Given the description of an element on the screen output the (x, y) to click on. 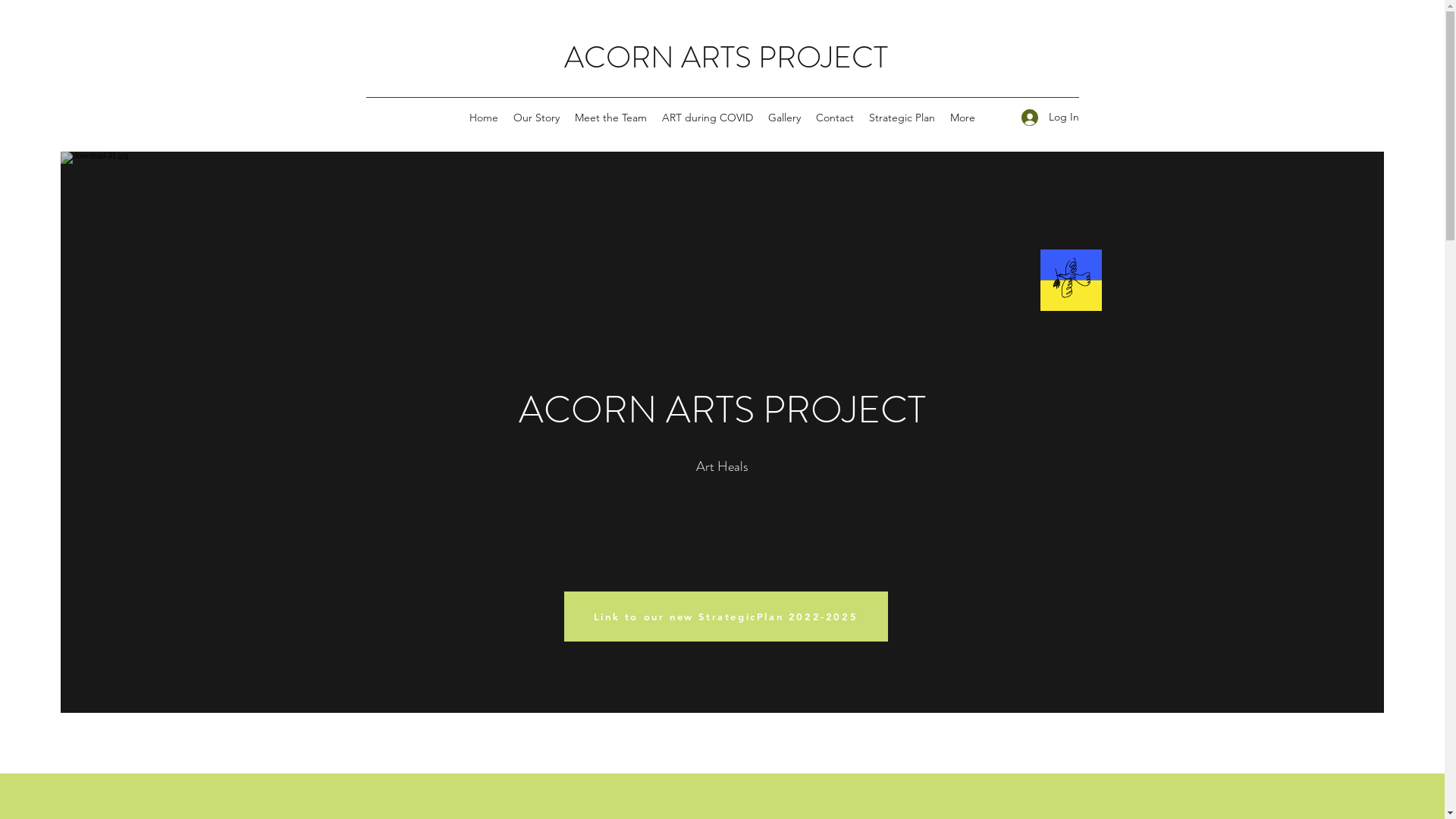
Our Story Element type: text (536, 117)
ART during COVID Element type: text (707, 117)
Contact Element type: text (834, 117)
Gallery Element type: text (784, 117)
Log In Element type: text (1044, 117)
Strategic Plan Element type: text (901, 117)
Link to our new StrategicPlan 2022-2025 Element type: text (726, 616)
ACORN ARTS PROJECT Element type: text (726, 56)
Home Element type: text (483, 117)
Meet the Team Element type: text (610, 117)
